Given the description of an element on the screen output the (x, y) to click on. 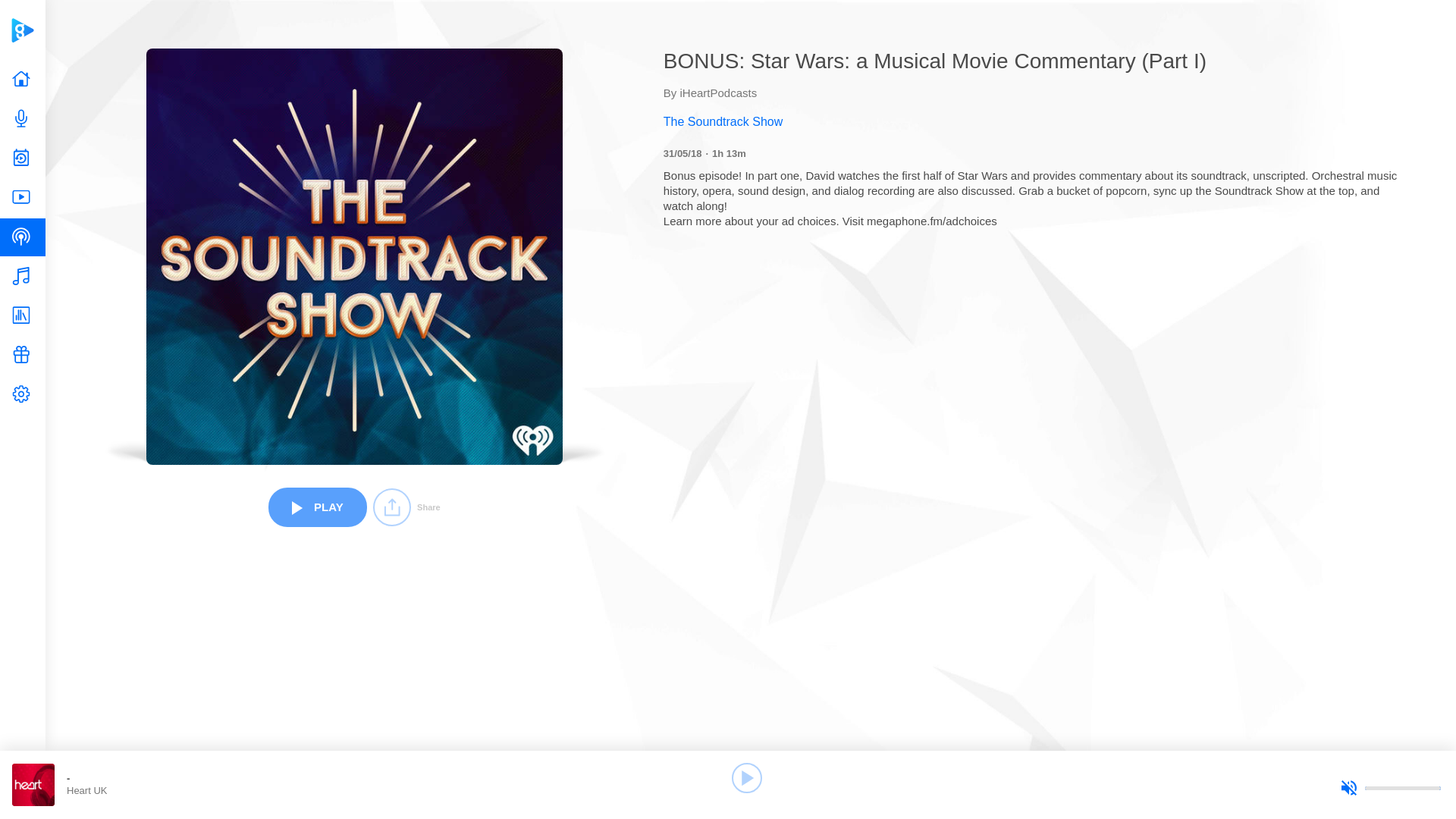
The Soundtrack Show (1035, 121)
Share (406, 507)
Share (406, 507)
Global Player (22, 30)
Global Player (22, 30)
PLAY (316, 507)
